Given the description of an element on the screen output the (x, y) to click on. 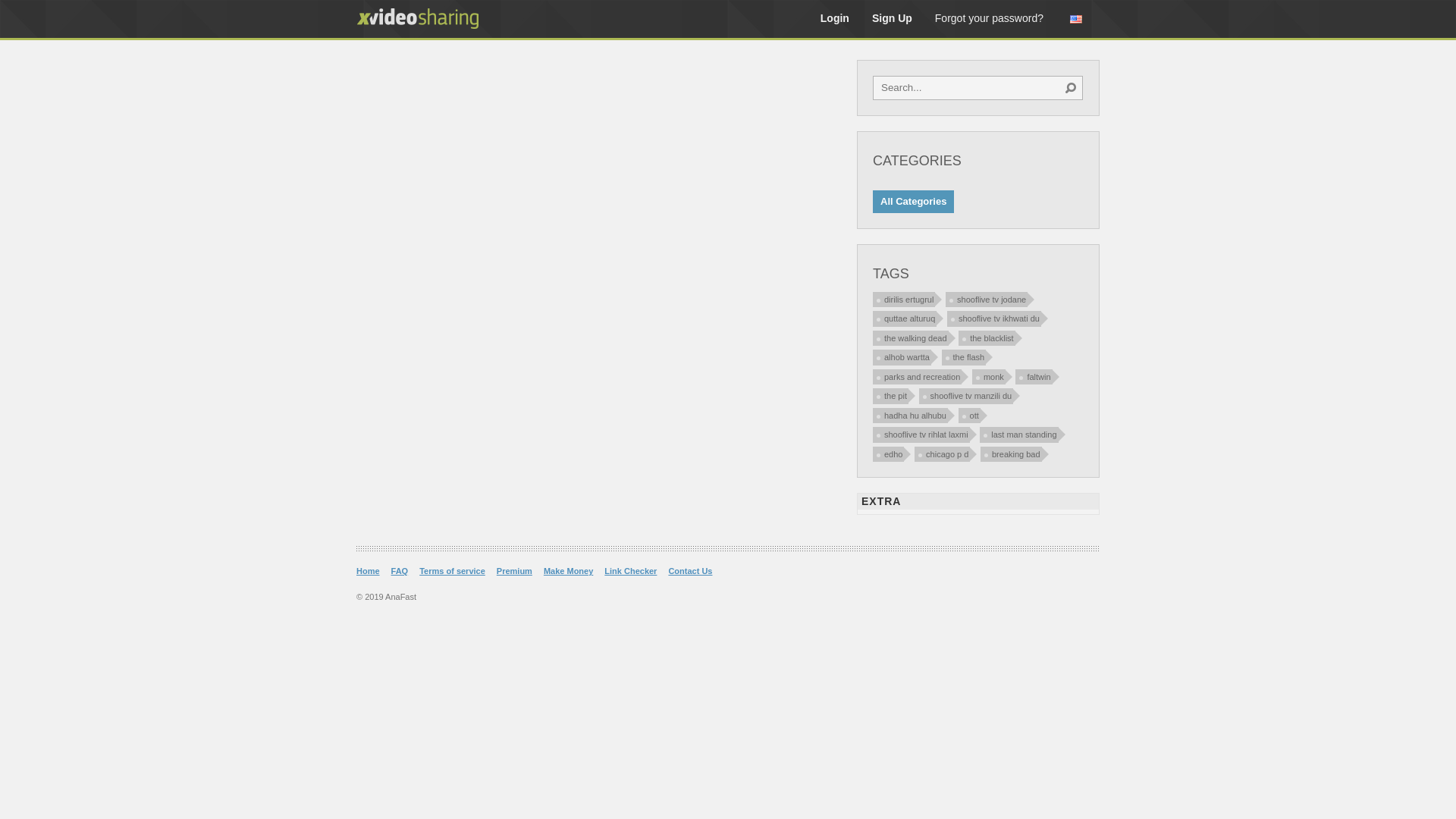
parks and recreation Element type: text (916, 376)
the blacklist Element type: text (986, 338)
All Categories Element type: text (912, 201)
Link Checker Element type: text (630, 570)
Sign Up Element type: text (891, 18)
Login Element type: text (834, 18)
shooflive tv manzili du Element type: text (966, 396)
quttae alturuq Element type: text (904, 318)
Home Element type: text (367, 570)
breaking bad Element type: text (1010, 453)
Make Money Element type: text (568, 570)
the walking dead Element type: text (910, 338)
Forgot your password? Element type: text (988, 18)
shooflive tv jodane Element type: text (986, 299)
alhob wartta Element type: text (901, 357)
dirilis ertugrul Element type: text (903, 299)
Premium Element type: text (514, 570)
FAQ Element type: text (399, 570)
edho Element type: text (887, 453)
hadha hu alhubu Element type: text (909, 415)
the flash Element type: text (963, 357)
Terms of service Element type: text (452, 570)
chicago p d Element type: text (941, 453)
shooflive tv rihlat laxmi Element type: text (920, 434)
the pit Element type: text (890, 396)
shooflive tv ikhwati du Element type: text (994, 318)
faltwin Element type: text (1033, 376)
Contact Us Element type: text (690, 570)
last man standing Element type: text (1018, 434)
ott Element type: text (969, 415)
monk Element type: text (988, 376)
